Given the description of an element on the screen output the (x, y) to click on. 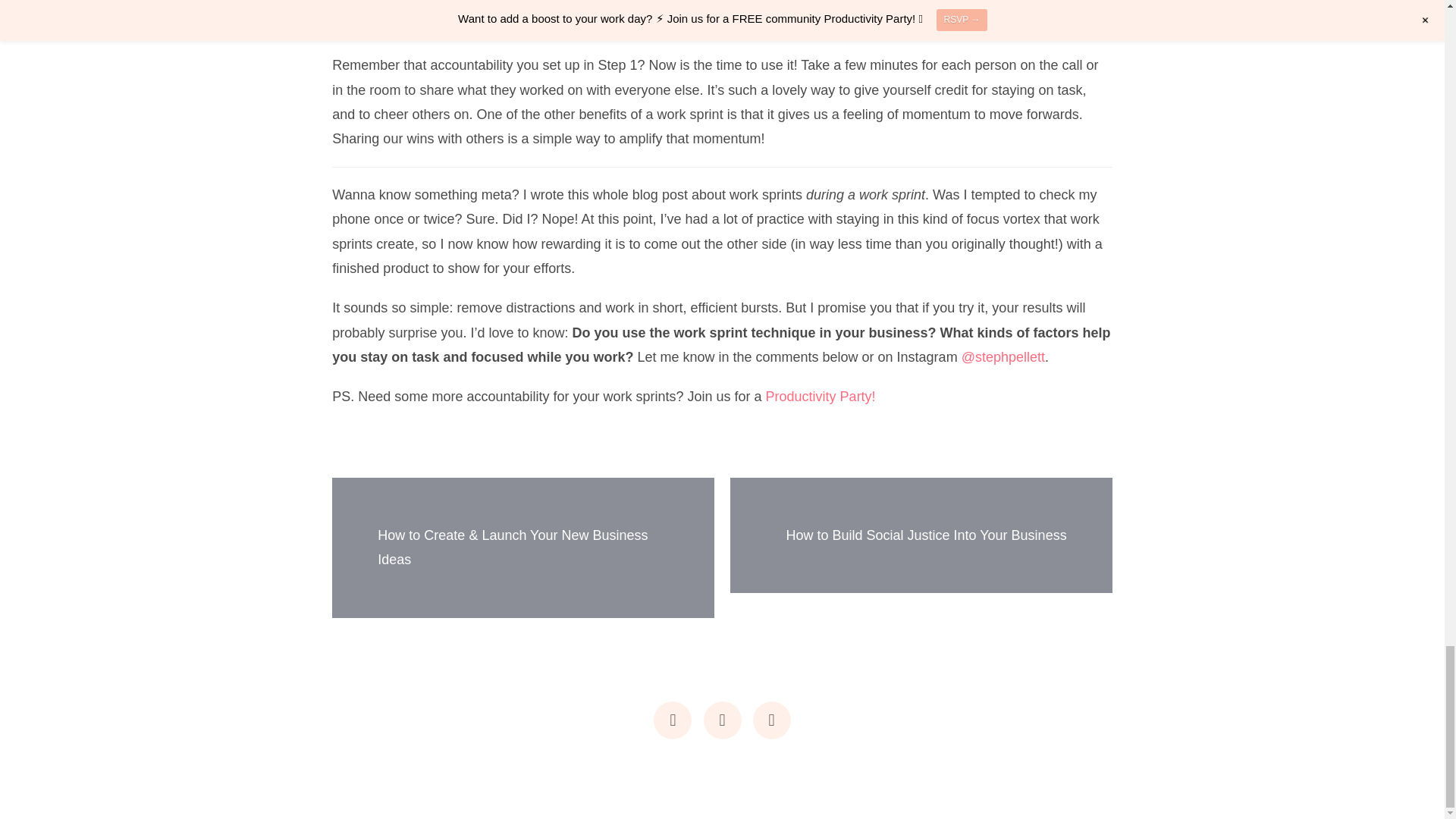
Facebook (722, 720)
LinkedIn (771, 720)
How to Build Social Justice Into Your Business (925, 534)
Productivity Party! (820, 396)
Instagram (672, 720)
